Given the description of an element on the screen output the (x, y) to click on. 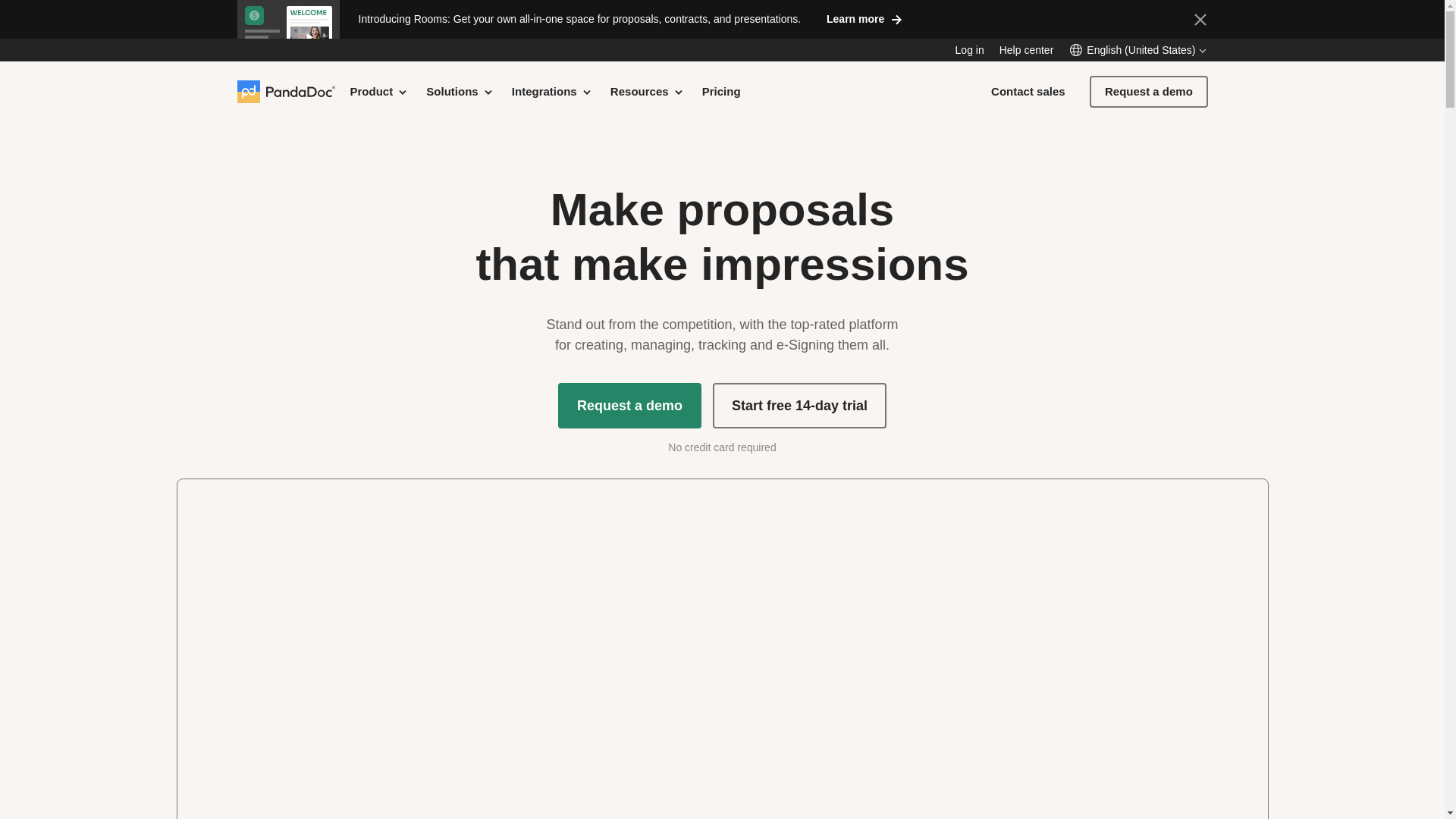
Log in (969, 50)
Solutions (459, 91)
Learn more (863, 18)
Product (379, 91)
Help center (1026, 50)
